Given the description of an element on the screen output the (x, y) to click on. 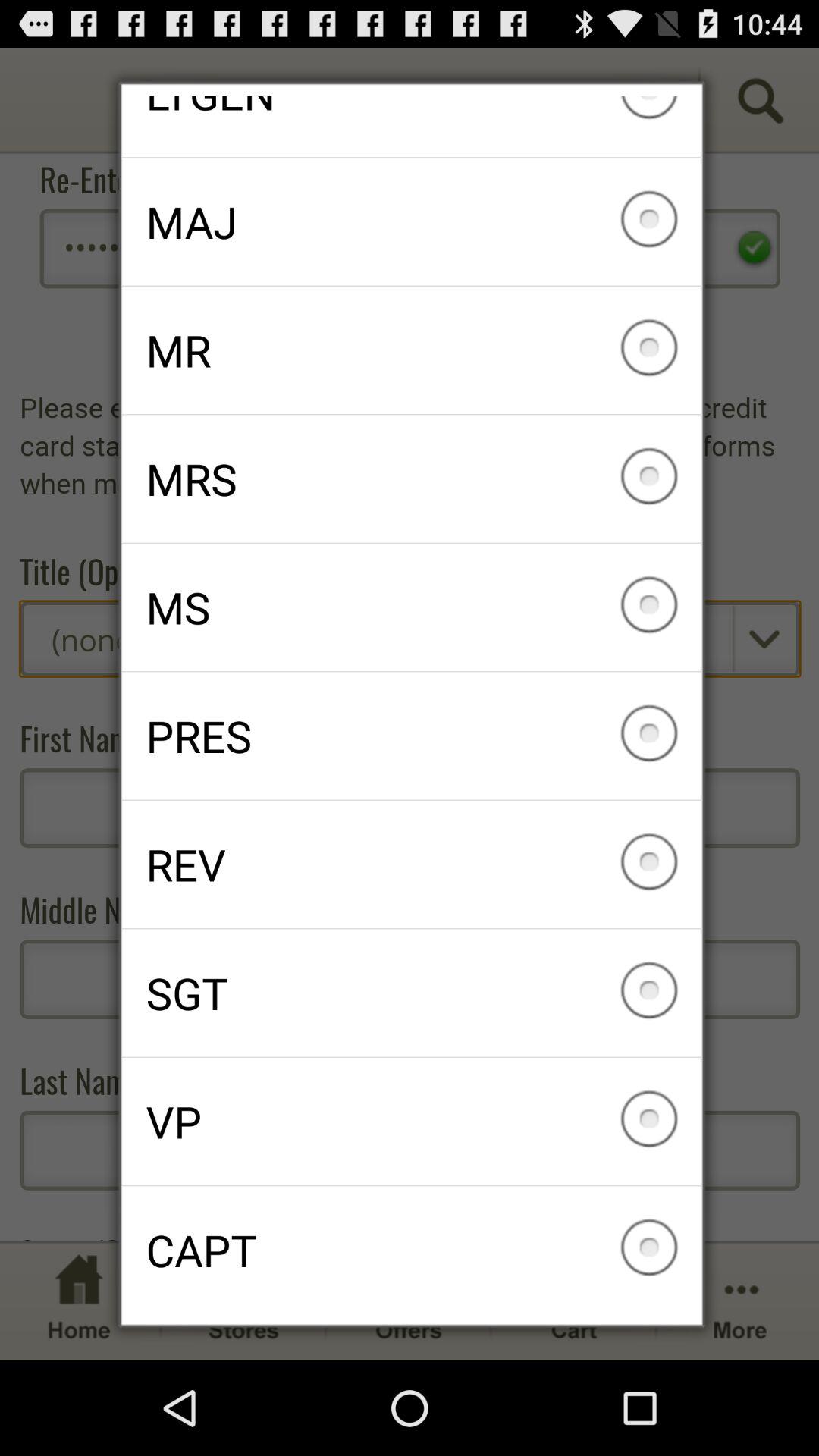
jump until the sgt (411, 992)
